Given the description of an element on the screen output the (x, y) to click on. 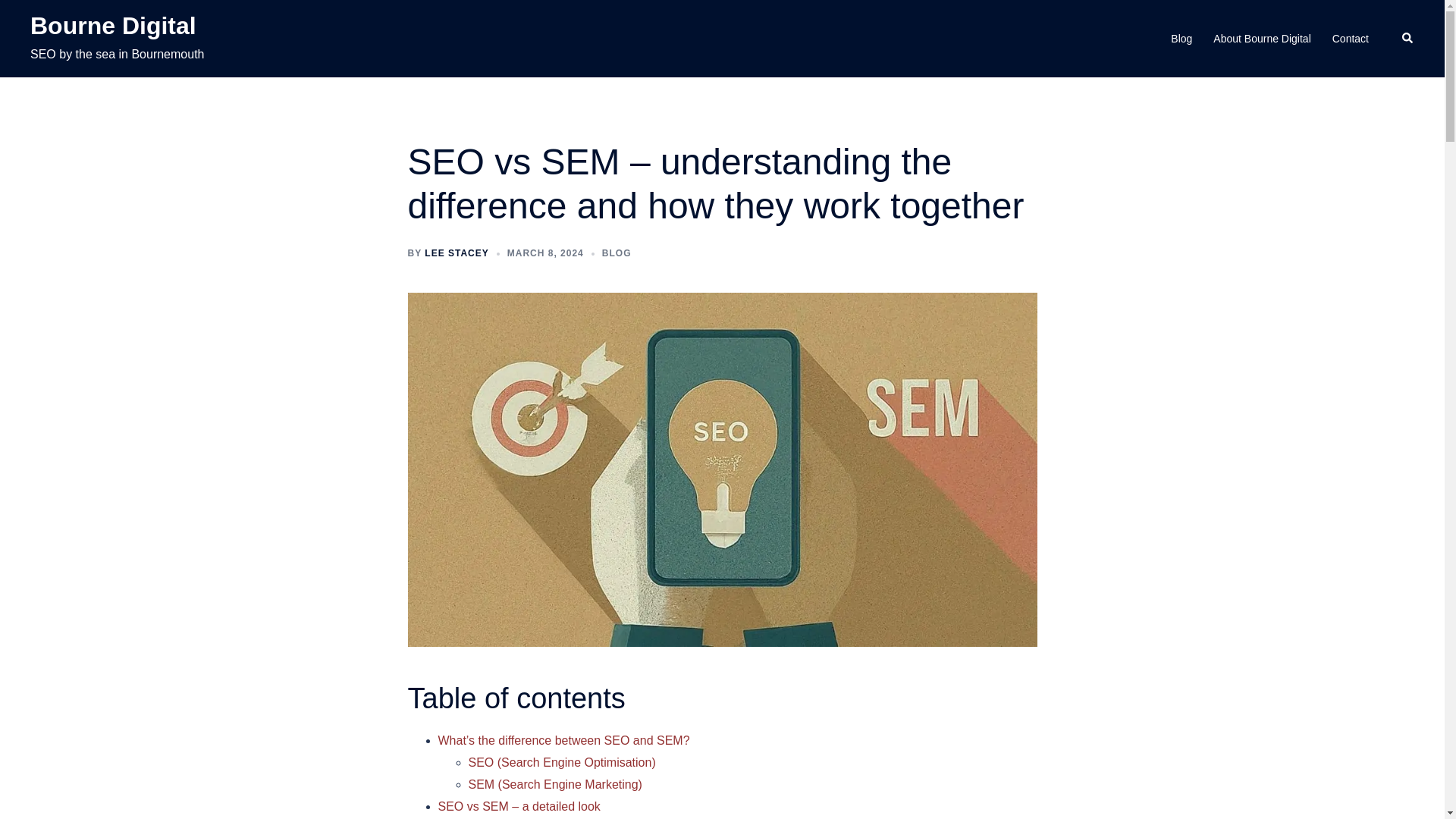
MARCH 8, 2024 (544, 253)
Search (1407, 38)
LEE STACEY (456, 253)
About Bourne Digital (1261, 37)
Bourne Digital (113, 25)
Contact (1350, 37)
Blog (1181, 37)
BLOG (616, 253)
